Given the description of an element on the screen output the (x, y) to click on. 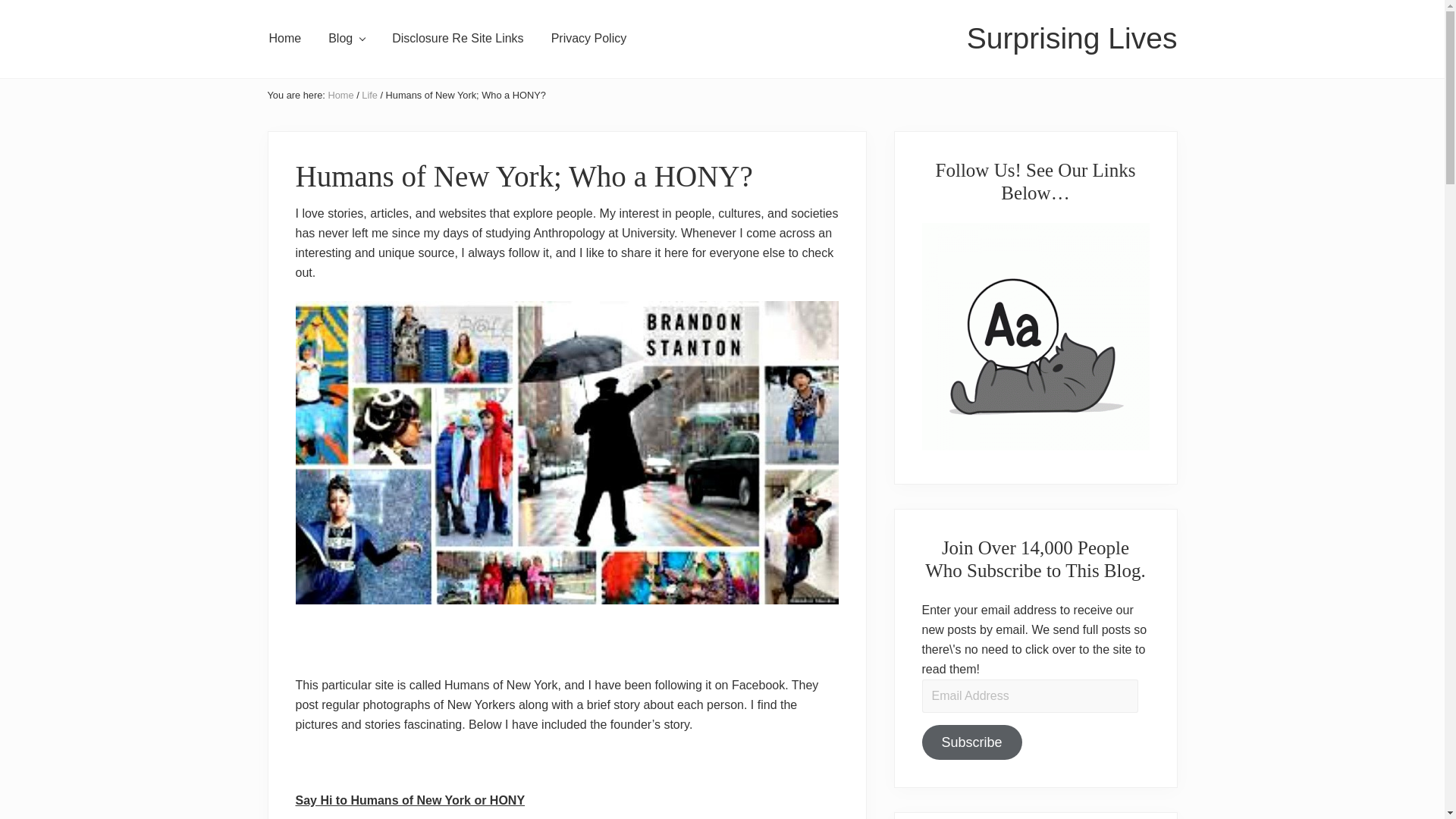
Home (340, 94)
Blog (346, 38)
Home (284, 38)
Disclosure Re Site Links (457, 38)
Privacy Policy (588, 38)
Life (369, 94)
Surprising Lives (1071, 38)
